Given the description of an element on the screen output the (x, y) to click on. 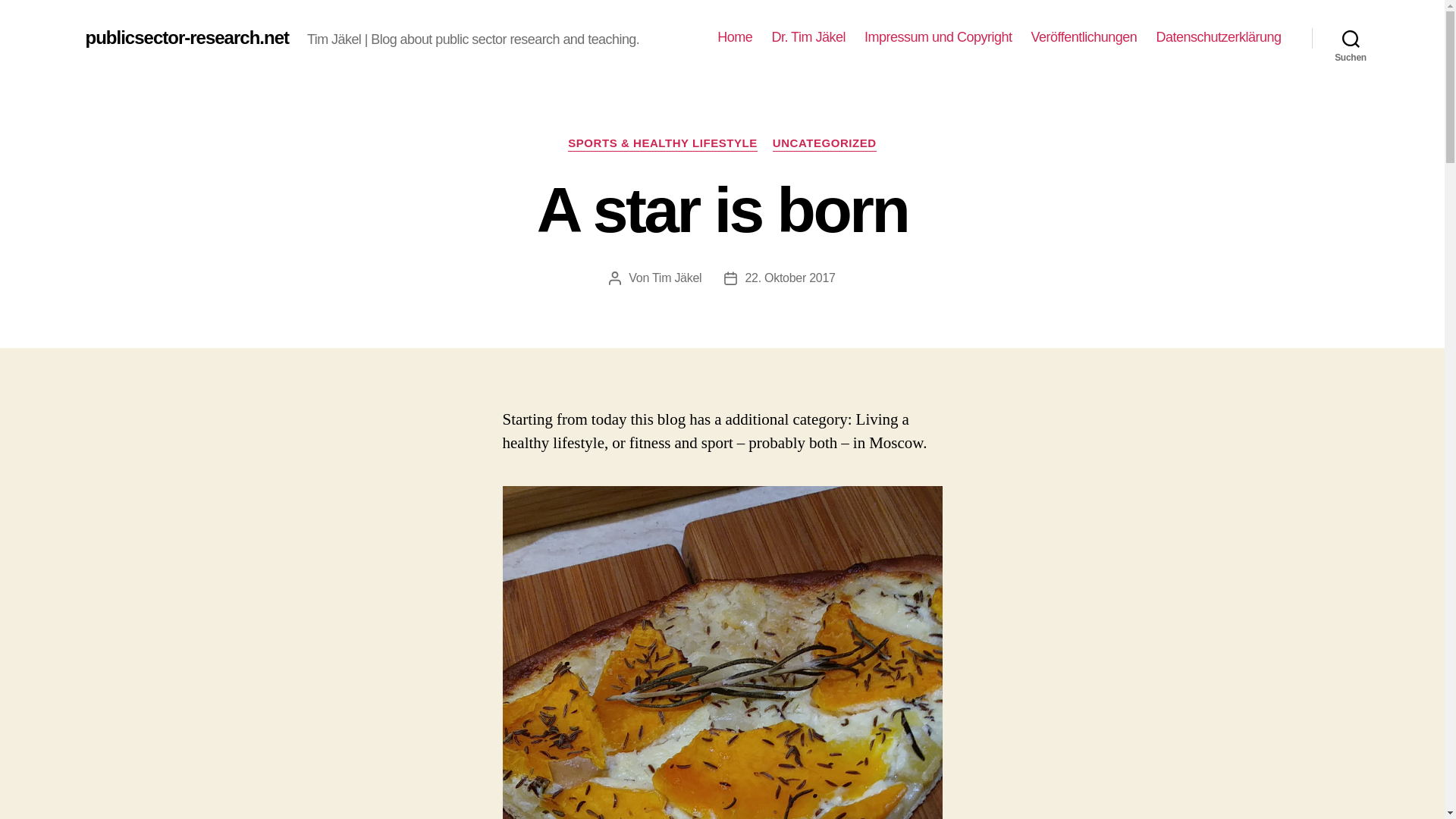
22. Oktober 2017 (789, 277)
Impressum und Copyright (937, 37)
UNCATEGORIZED (824, 143)
Suchen (1350, 37)
publicsector-research.net (186, 37)
Home (734, 37)
